Given the description of an element on the screen output the (x, y) to click on. 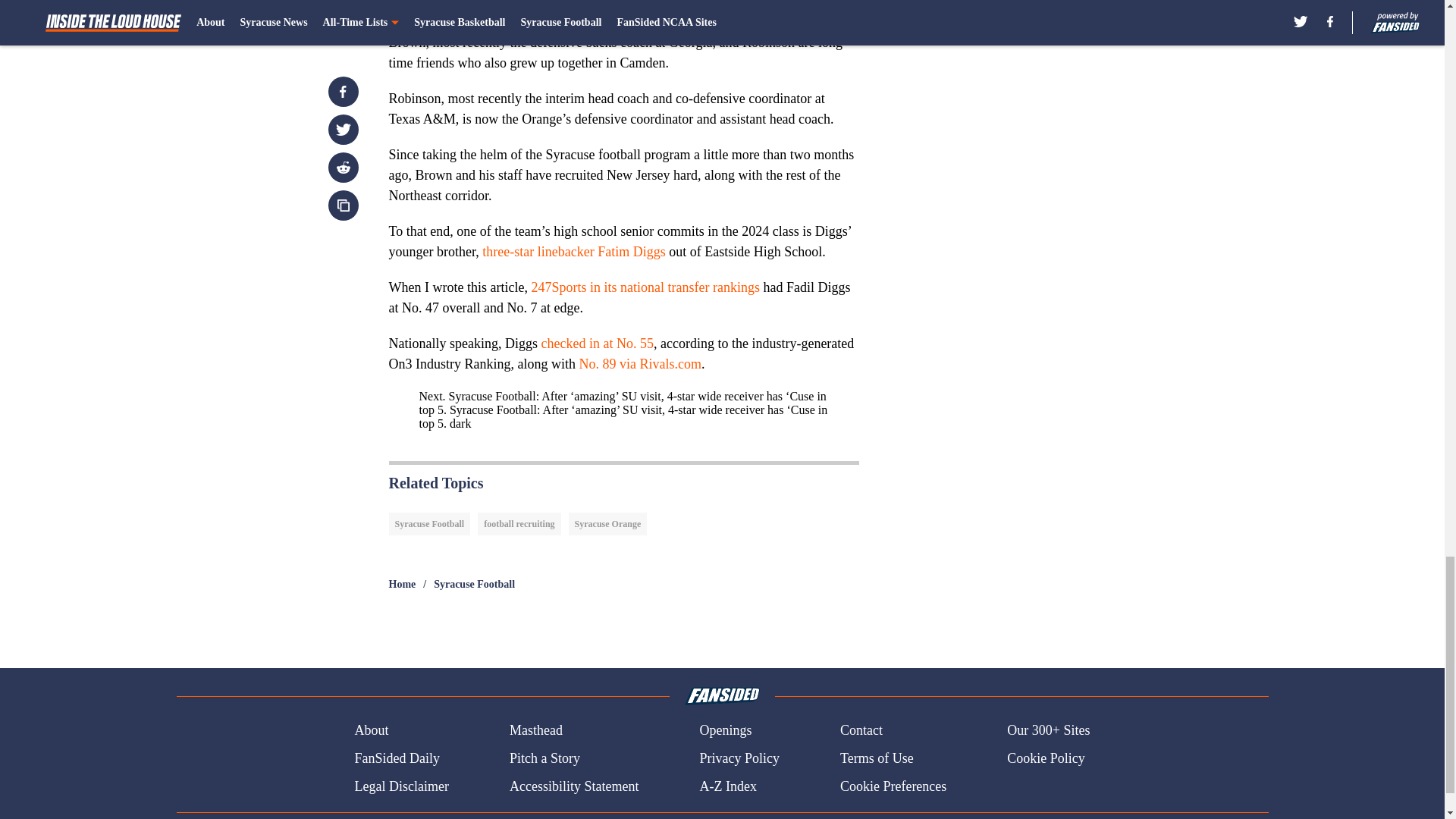
Openings (724, 730)
checked in at No. 55 (596, 343)
Home (401, 584)
Syracuse Football (429, 523)
Syracuse Orange (608, 523)
247Sports in its national transfer rankings (644, 287)
three-star linebacker Fatim Diggs (573, 251)
Masthead (535, 730)
No. 89 via Rivals.com (639, 363)
About (370, 730)
Contact (861, 730)
FanSided Daily (396, 758)
football recruiting (518, 523)
Syracuse Football (474, 584)
